Given the description of an element on the screen output the (x, y) to click on. 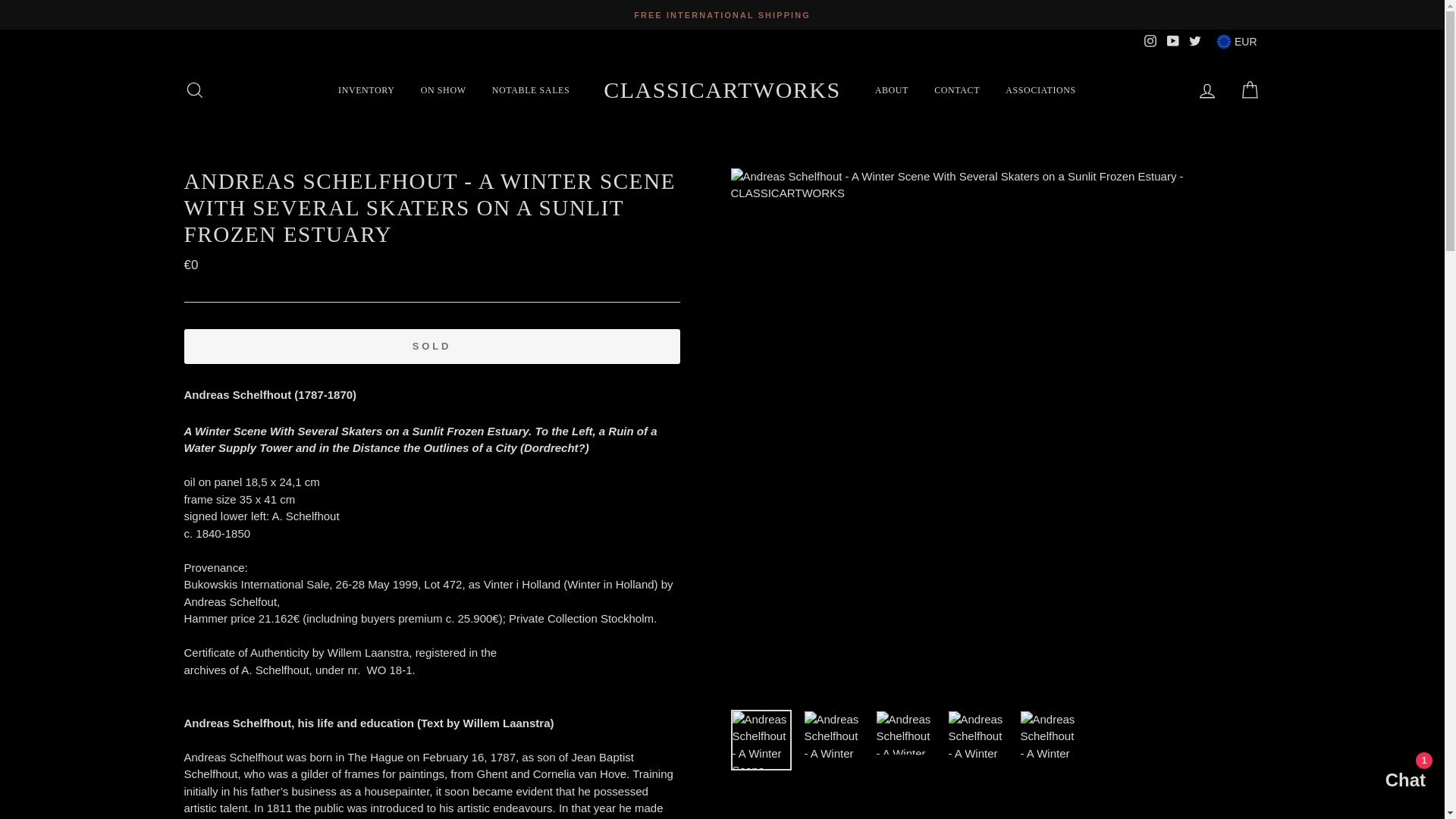
YouTube (1172, 41)
EUR (1235, 41)
ON SHOW (443, 89)
INVENTORY (366, 89)
CLASSICARTWORKS (722, 89)
SOLD (431, 346)
CLASSICARTWORKS on Instagram (1150, 41)
ABOUT (891, 89)
SEARCH (194, 89)
Shopify online store chat (1383, 781)
CLASSICARTWORKS on Twitter (1195, 41)
CART (1249, 89)
Twitter (1195, 41)
CLASSICARTWORKS on YouTube (1172, 41)
